Given the description of an element on the screen output the (x, y) to click on. 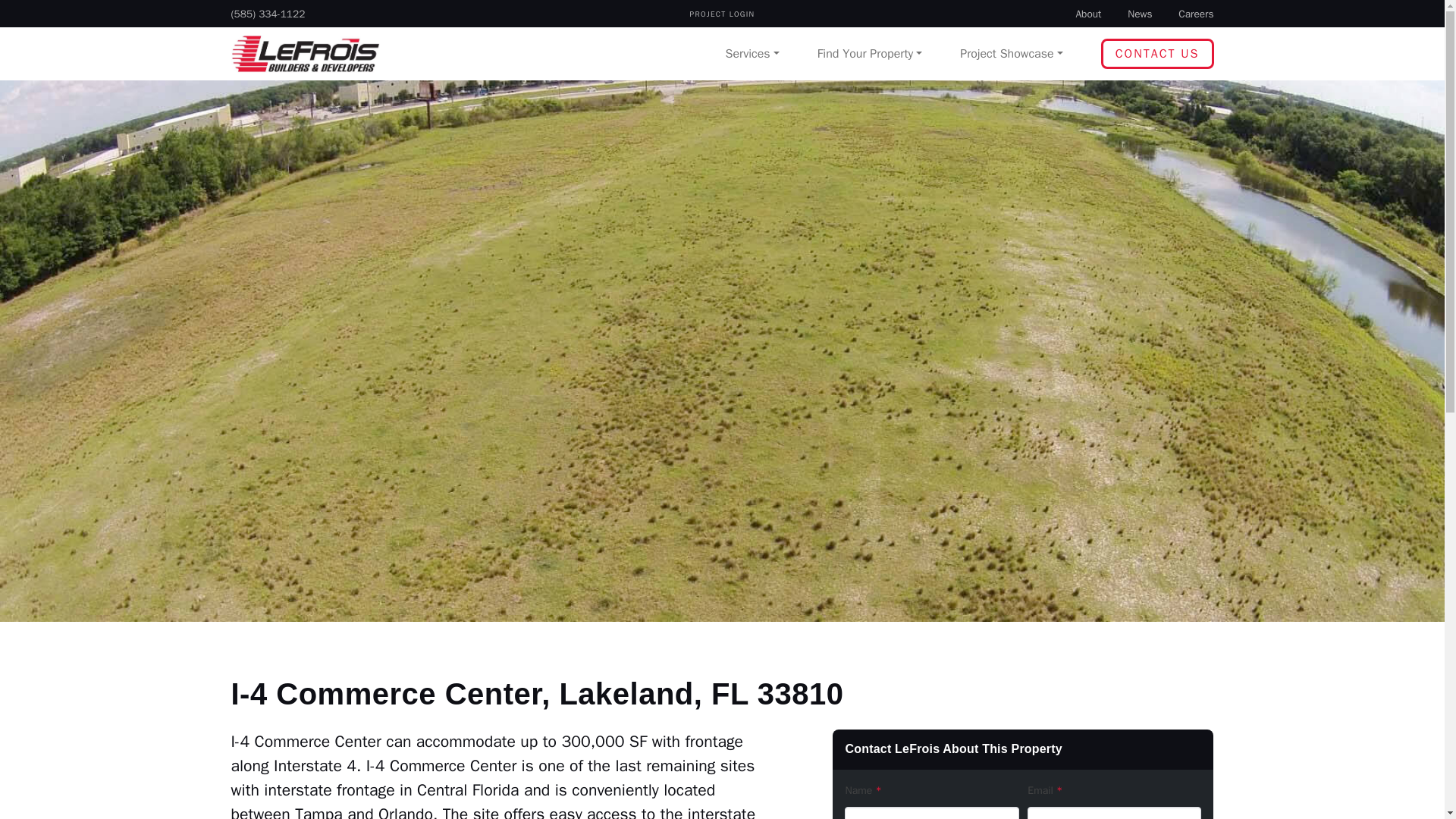
PROJECT LOGIN (721, 14)
About (1087, 13)
Careers (1194, 13)
Call Us (267, 13)
Services (751, 53)
Project Showcase (1010, 53)
Find Your Property (869, 53)
News (1138, 13)
CONTACT US (1157, 53)
